Given the description of an element on the screen output the (x, y) to click on. 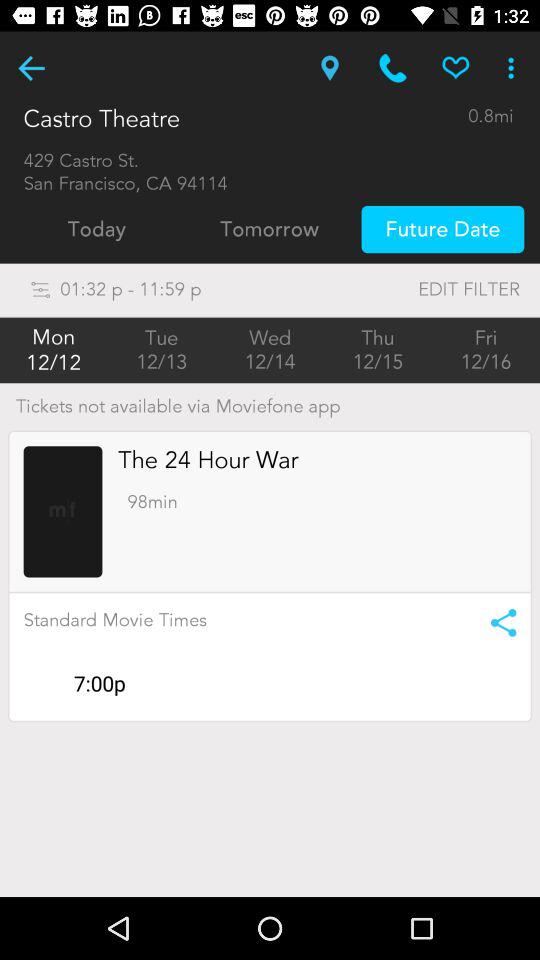
the screenshot of the movie images (62, 511)
